Given the description of an element on the screen output the (x, y) to click on. 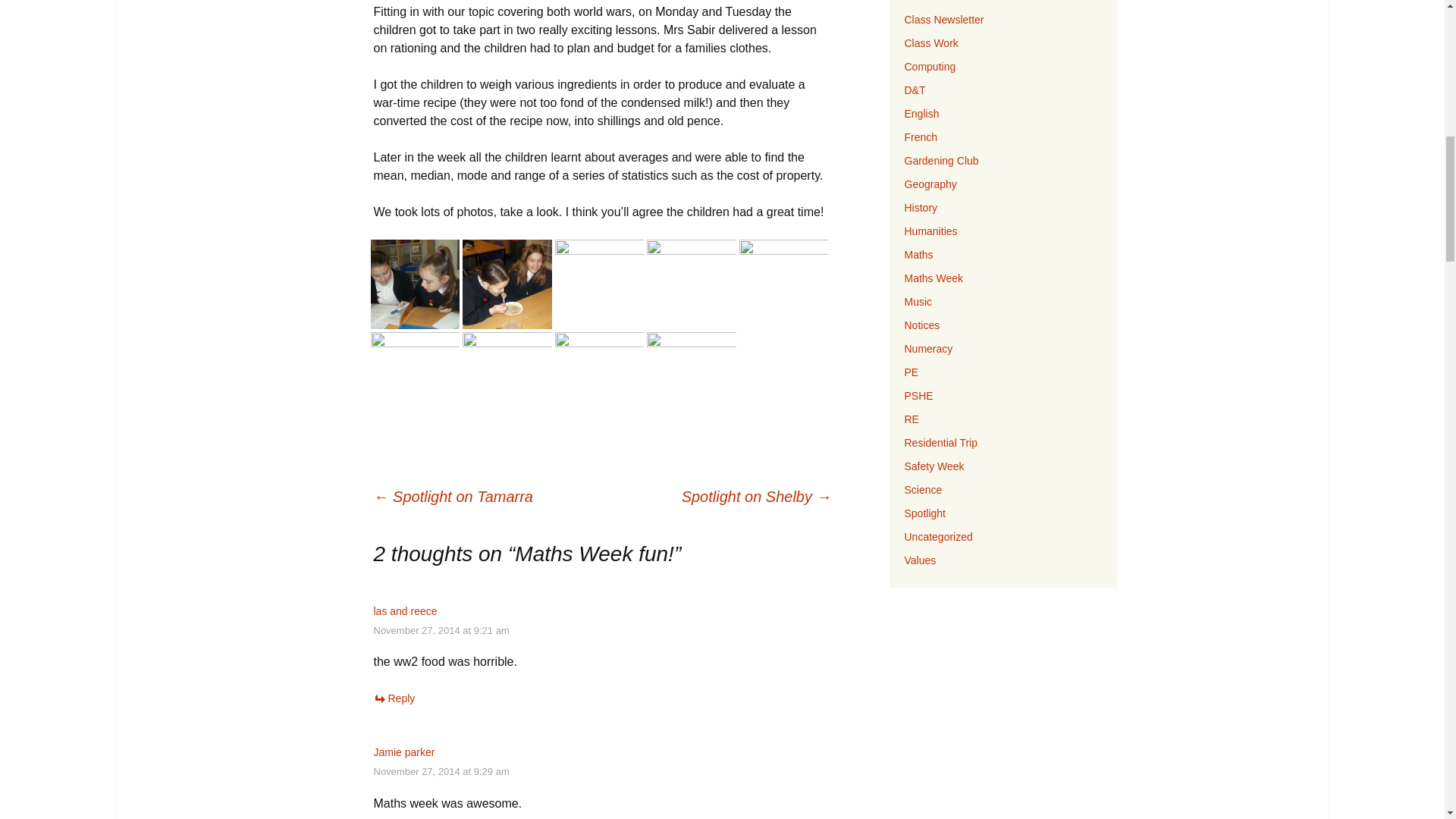
November 27, 2014 at 9:21 am (440, 630)
Reply (393, 698)
November 27, 2014 at 9:29 am (440, 771)
